Given the description of an element on the screen output the (x, y) to click on. 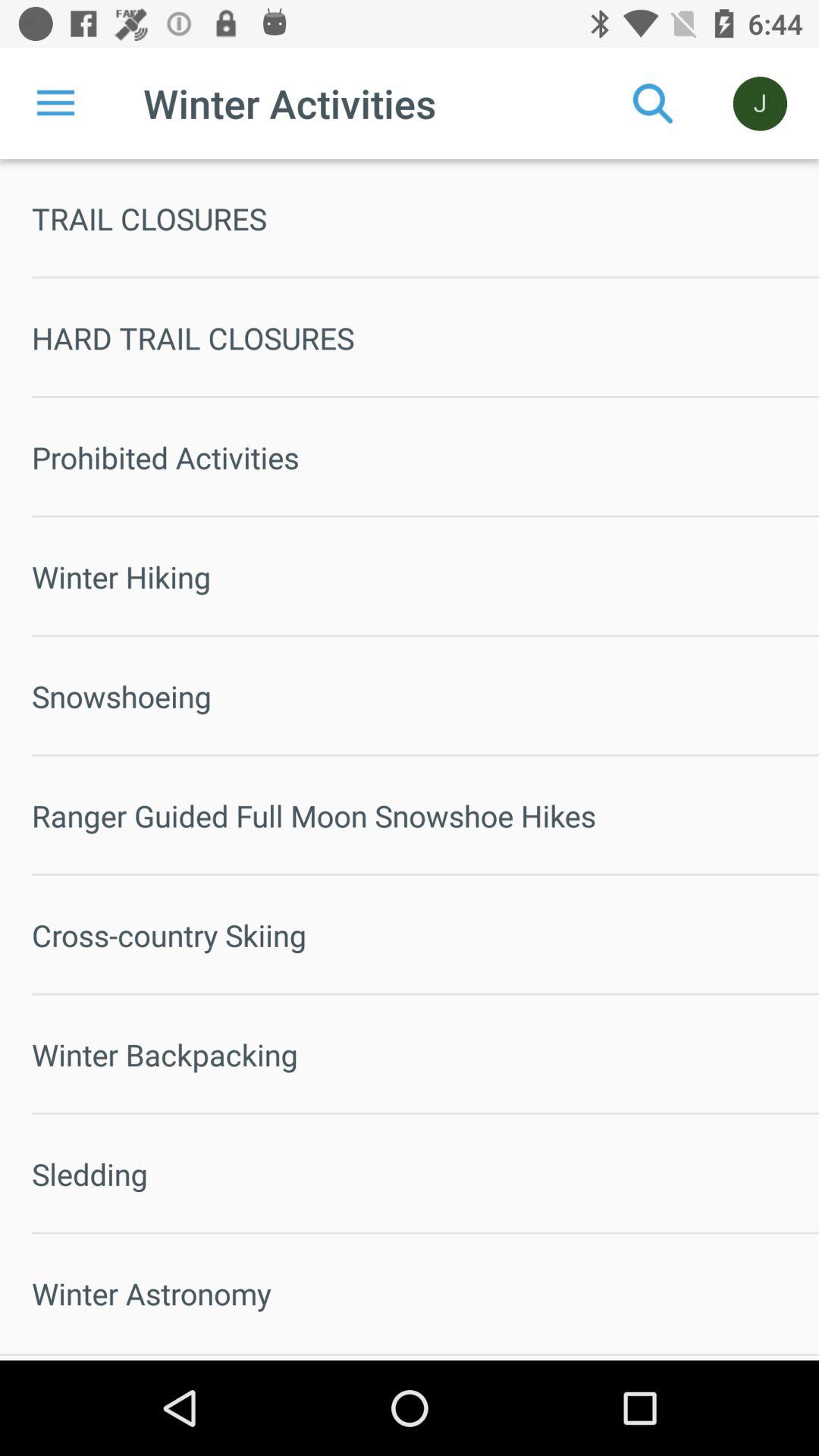
jump until cross-country skiing (425, 935)
